Given the description of an element on the screen output the (x, y) to click on. 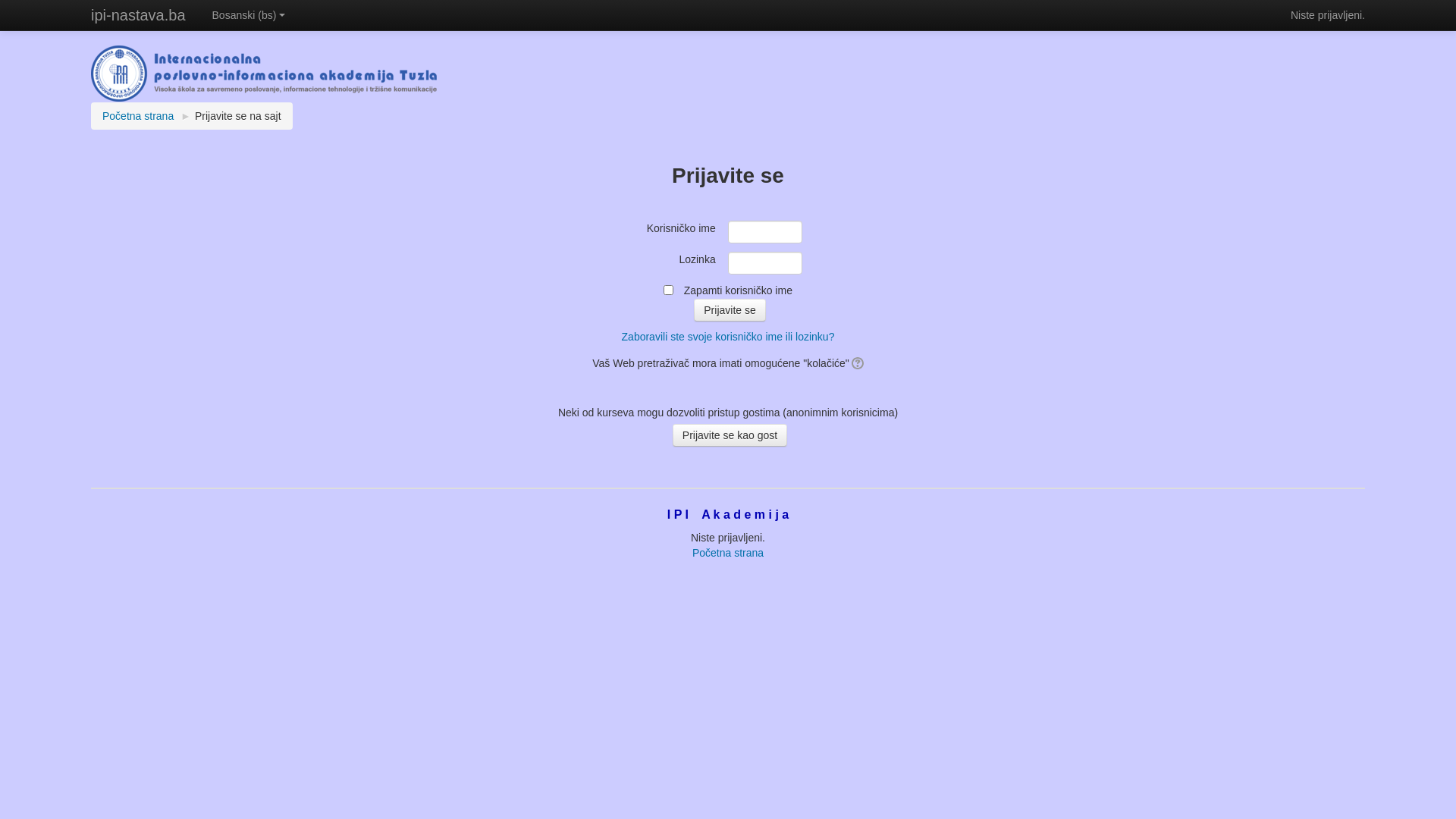
ipi-nastava.ba Element type: text (137, 15)
Prijavite se Element type: text (729, 309)
Bosanski (bs) Element type: text (248, 15)
Prijavite se kao gost Element type: text (729, 434)
